Given the description of an element on the screen output the (x, y) to click on. 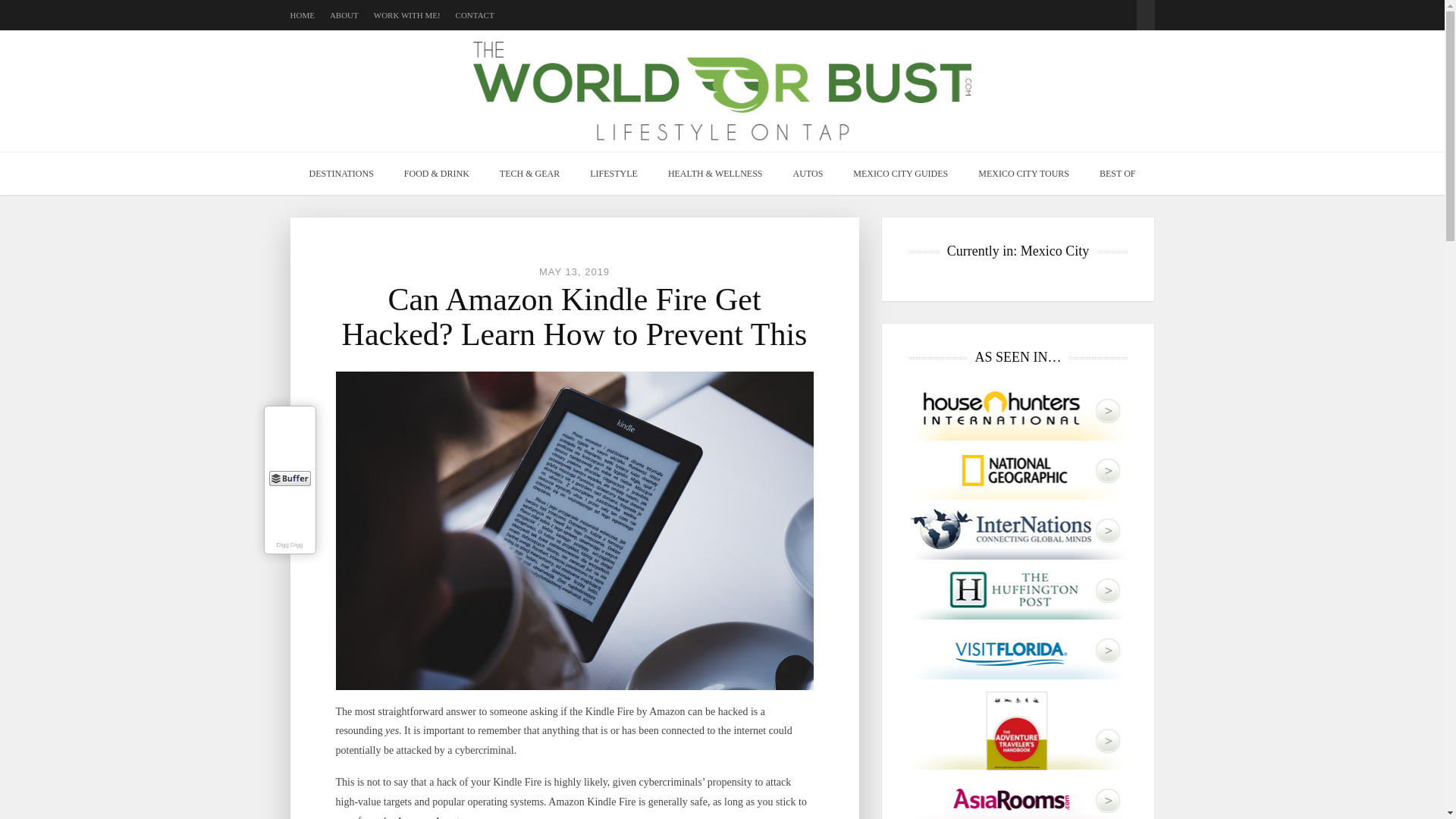
ABOUT (344, 15)
CONTACT (475, 15)
MEXICO CITY TOURS (1023, 173)
AUTOS (807, 173)
MEXICO CITY GUIDES (900, 173)
DESTINATIONS (341, 173)
WORK WITH ME! (407, 15)
LIFESTYLE (613, 173)
HOME (301, 15)
BEST OF (1117, 173)
Search (1144, 7)
